Given the description of an element on the screen output the (x, y) to click on. 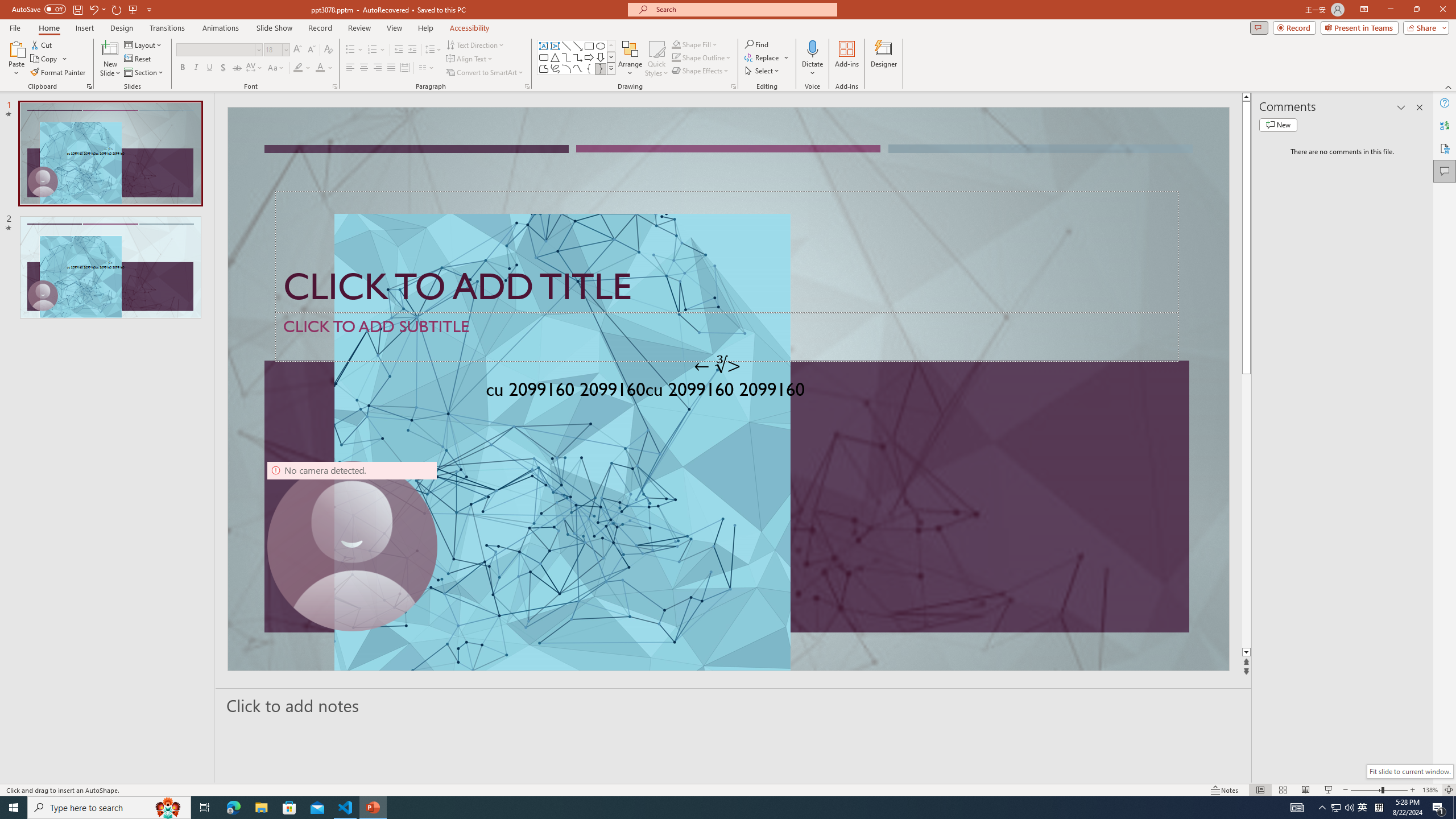
Shape Fill Dark Green, Accent 2 (675, 44)
Shape Outline Green, Accent 1 (675, 56)
